Given the description of an element on the screen output the (x, y) to click on. 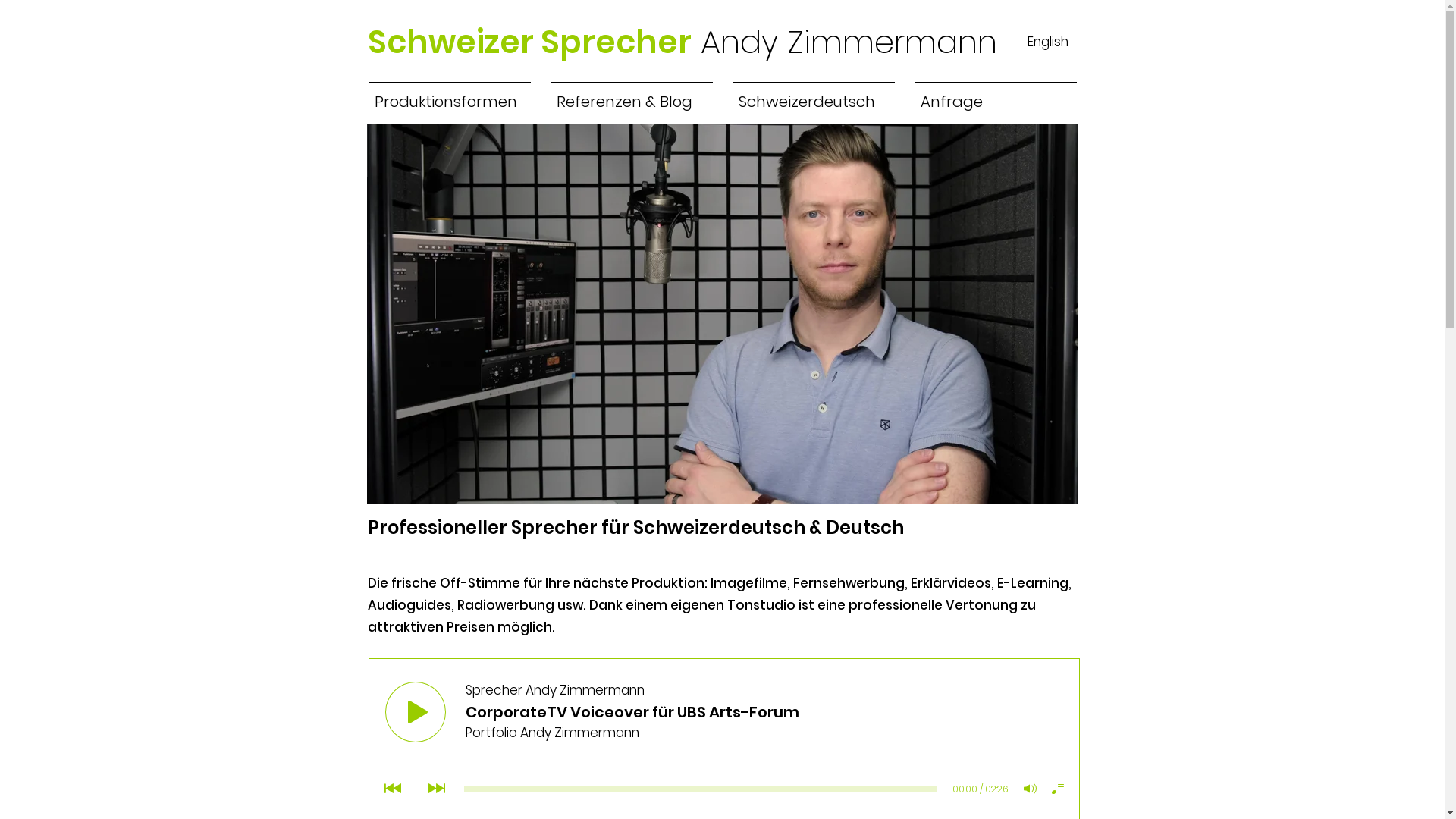
English Element type: text (1047, 42)
Anfrage Element type: text (994, 94)
Produktionsformen Element type: text (448, 94)
Referenzen & Blog Element type: text (630, 94)
Schweizer Sprecher Andy Zimmermann Element type: text (681, 41)
Schweizerdeutsch Element type: text (812, 94)
